Given the description of an element on the screen output the (x, y) to click on. 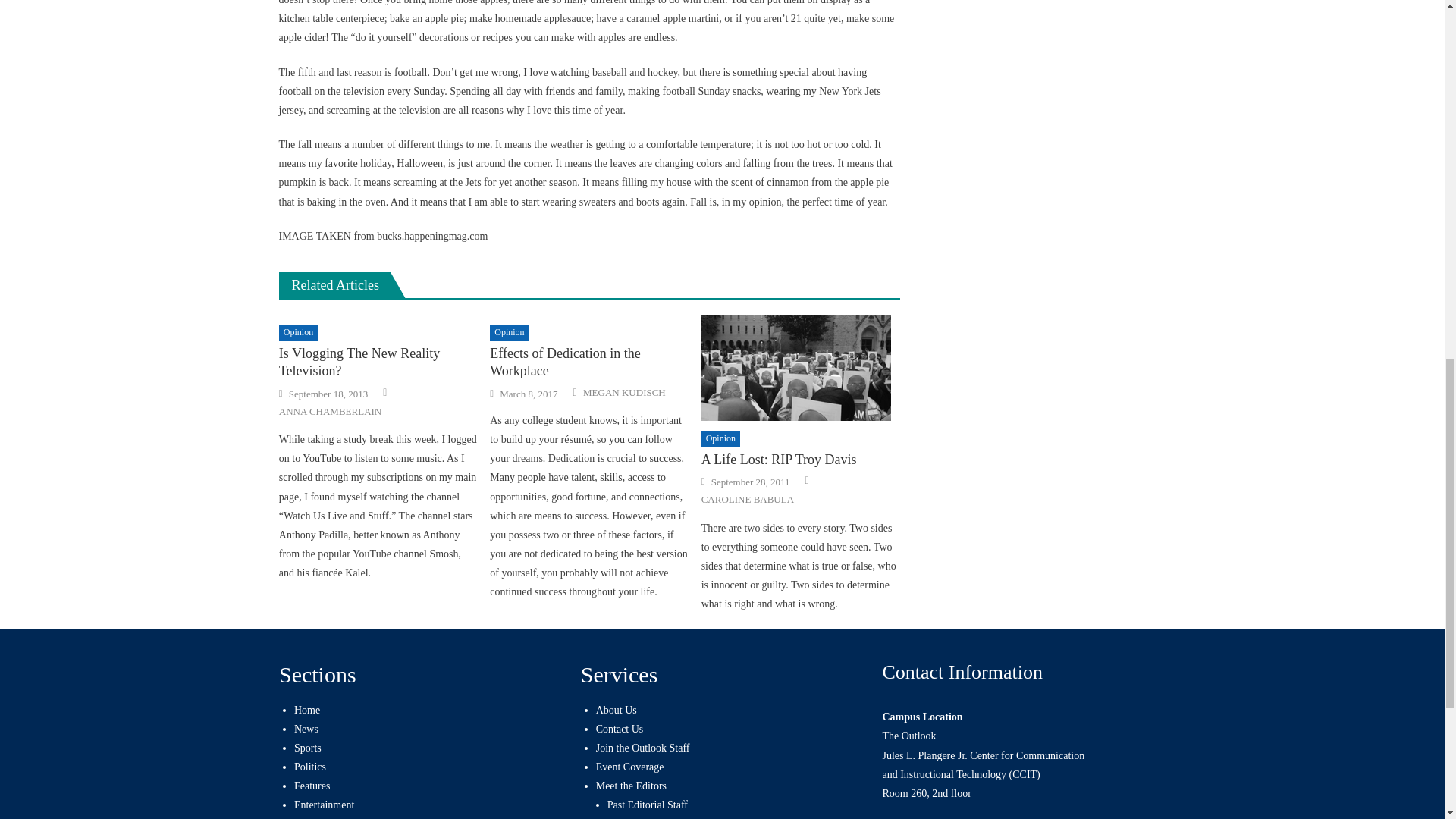
Posts by ANNA CHAMBERLAIN (330, 411)
Effects of Dedication in the Workplace (588, 362)
Opinion (298, 332)
MEGAN KUDISCH (624, 392)
Posts by MEGAN KUDISCH (624, 392)
A Life Lost: RIP Troy Davis (800, 459)
Is Vlogging The New Reality Television? (378, 362)
A Life Lost: RIP Troy Davis (800, 367)
ANNA CHAMBERLAIN (330, 411)
March 8, 2017 (528, 394)
September 18, 2013 (328, 394)
Opinion (720, 438)
September 28, 2011 (750, 481)
Posts by CAROLINE BABULA (747, 499)
Opinion (508, 332)
